Given the description of an element on the screen output the (x, y) to click on. 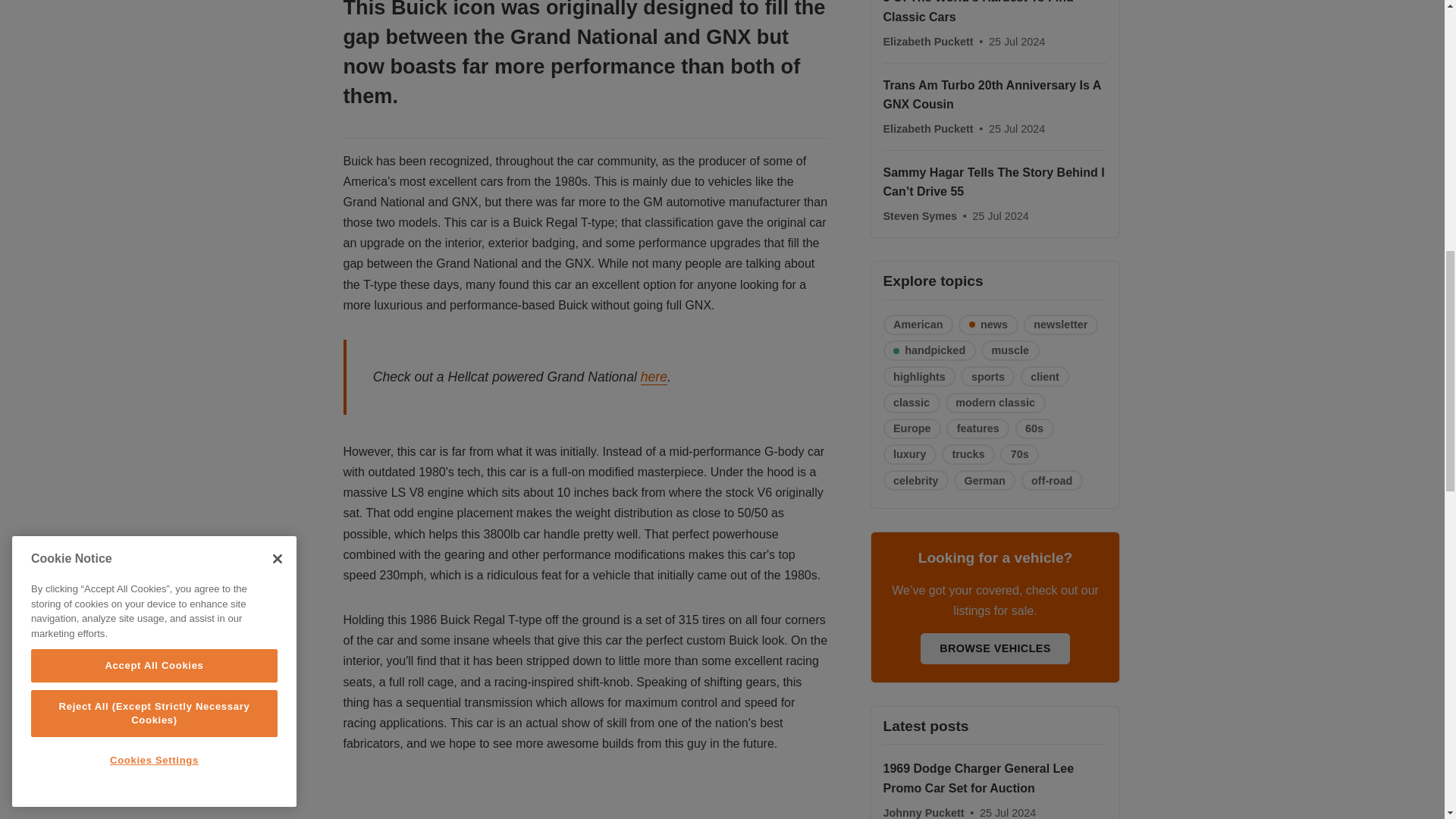
here (653, 376)
Elizabeth Puckett (928, 41)
YouTube video player (554, 798)
Elizabeth Puckett (928, 41)
Steven Symes (920, 215)
American (917, 324)
Elizabeth Puckett (928, 128)
